Given the description of an element on the screen output the (x, y) to click on. 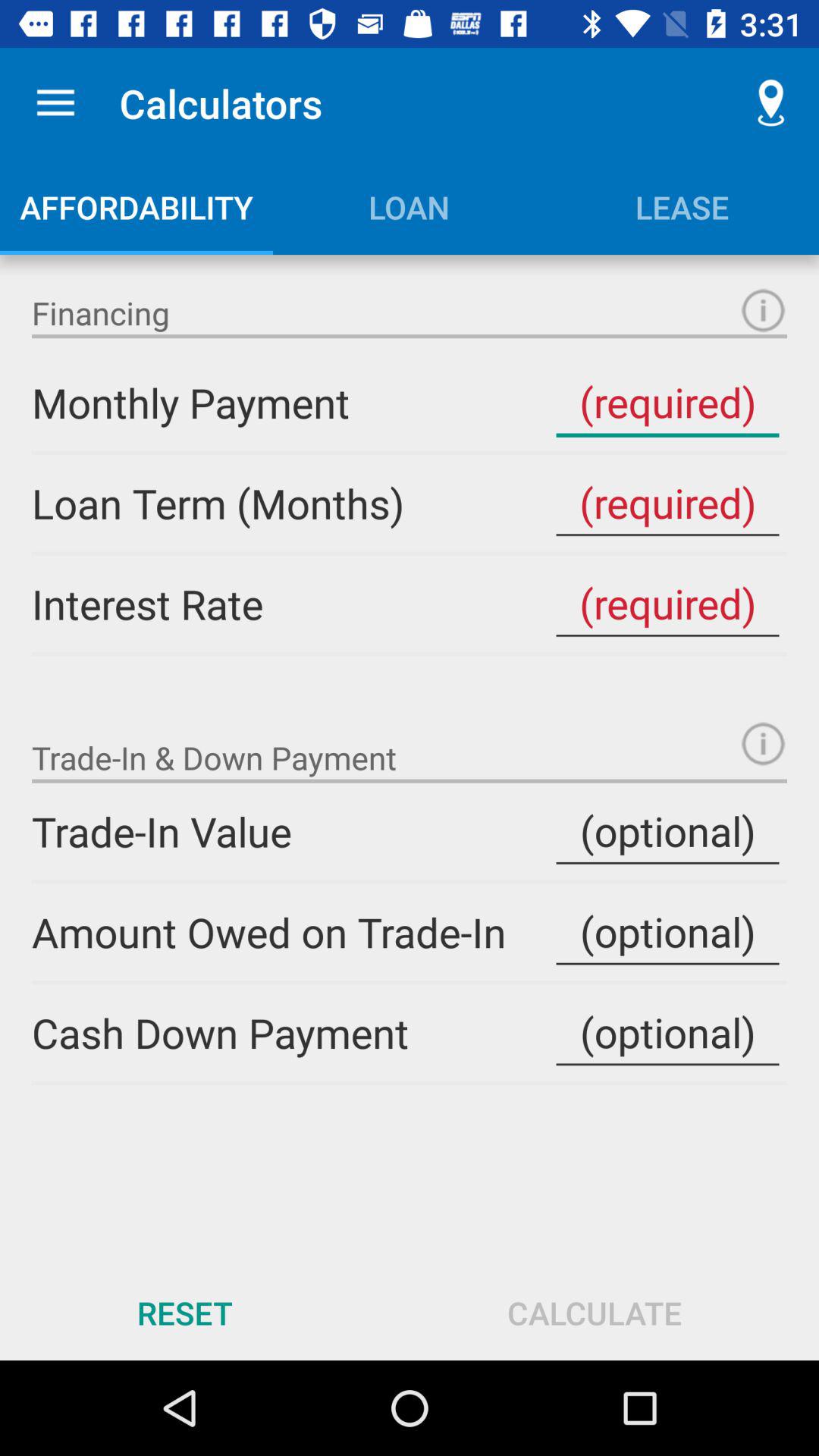
select reset (184, 1312)
